Given the description of an element on the screen output the (x, y) to click on. 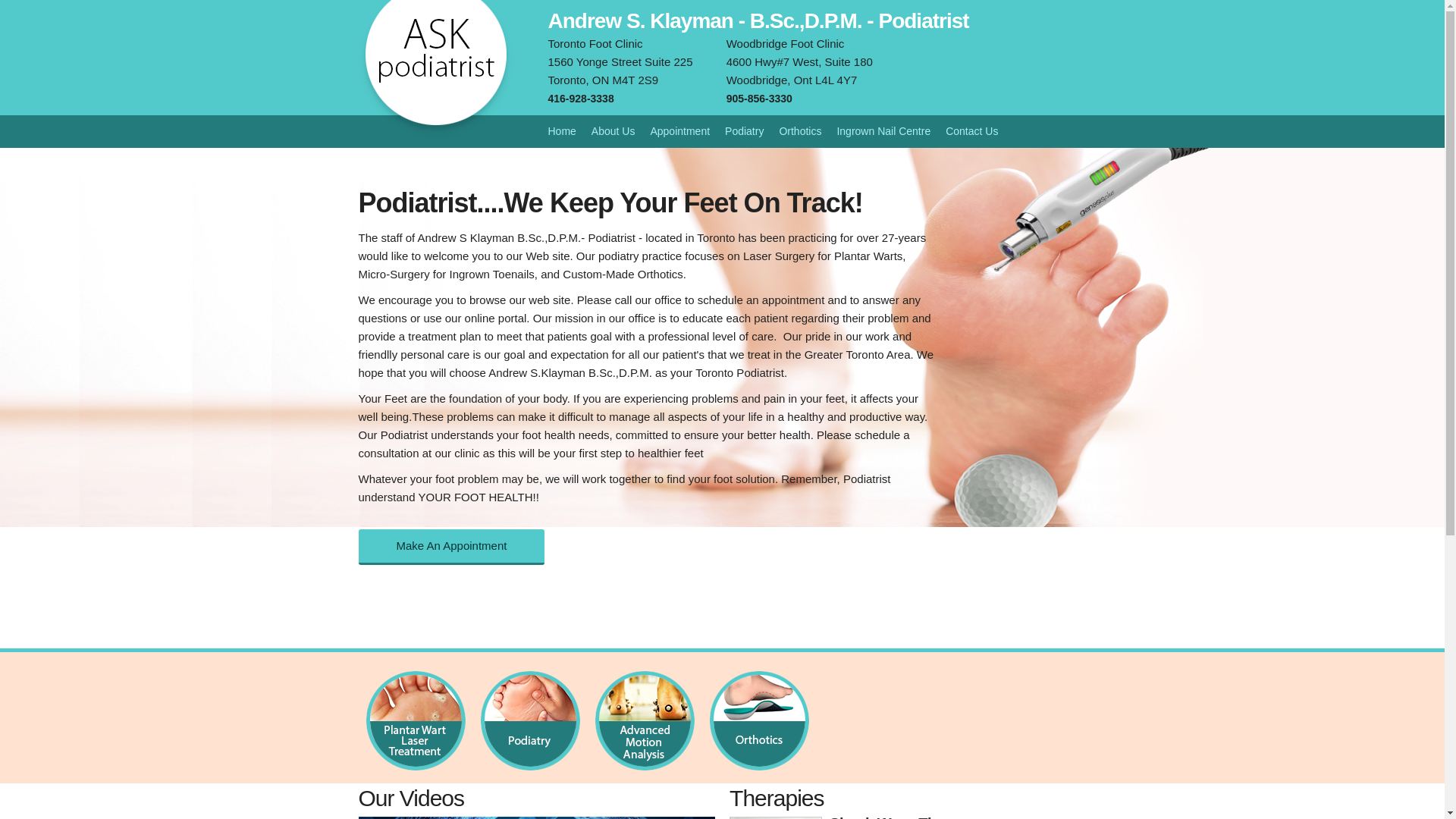
Podiatry Element type: text (744, 131)
About Us Element type: text (613, 131)
Home Element type: text (561, 131)
Orthotics Element type: text (799, 131)
905-856-3330 Element type: text (759, 98)
Make An Appointment Element type: text (450, 546)
416-928-3338 Element type: text (580, 98)
Ingrown Nail Centre Element type: text (883, 131)
Contact Us Element type: text (971, 131)
Appointment Element type: text (679, 131)
